Given the description of an element on the screen output the (x, y) to click on. 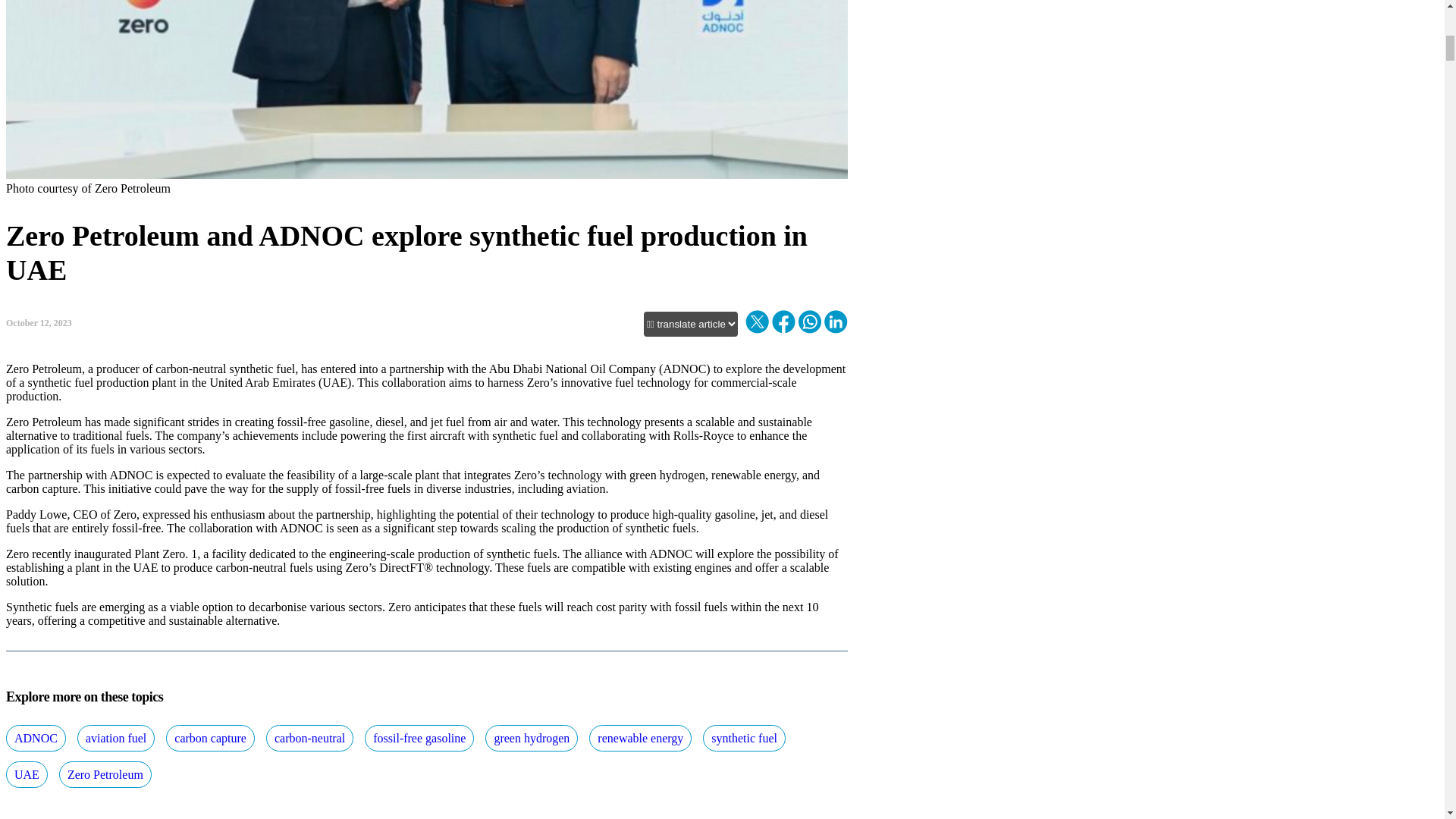
fossil-free gasoline (419, 737)
carbon-neutral (309, 737)
green hydrogen (531, 737)
Zero Petroleum (105, 774)
UAE (26, 774)
October 12, 2023 (38, 322)
carbon capture (209, 737)
synthetic fuel (744, 737)
aviation fuel (115, 737)
ADNOC (35, 737)
